Given the description of an element on the screen output the (x, y) to click on. 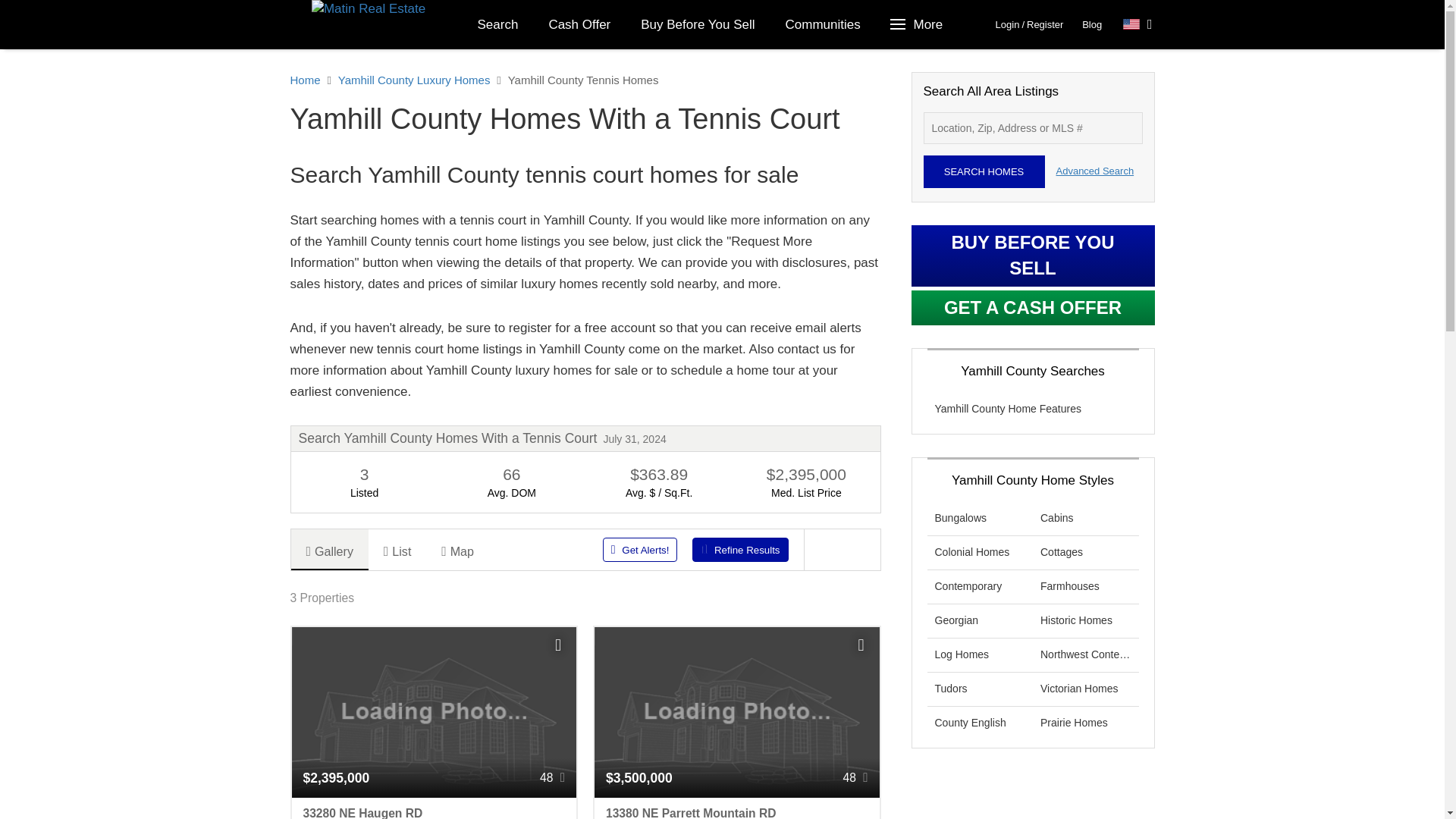
Communities (823, 24)
Select Language (1137, 24)
13380 NE Parrett Mountain RD Newberg,  OR 97132 (736, 808)
Register (1044, 24)
Cash Offer (579, 24)
More (918, 24)
Buy Before You Sell (698, 24)
33280 NE Haugen RD Newberg,  OR 97132 (433, 808)
Search (498, 24)
Blog (1091, 24)
